Given the description of an element on the screen output the (x, y) to click on. 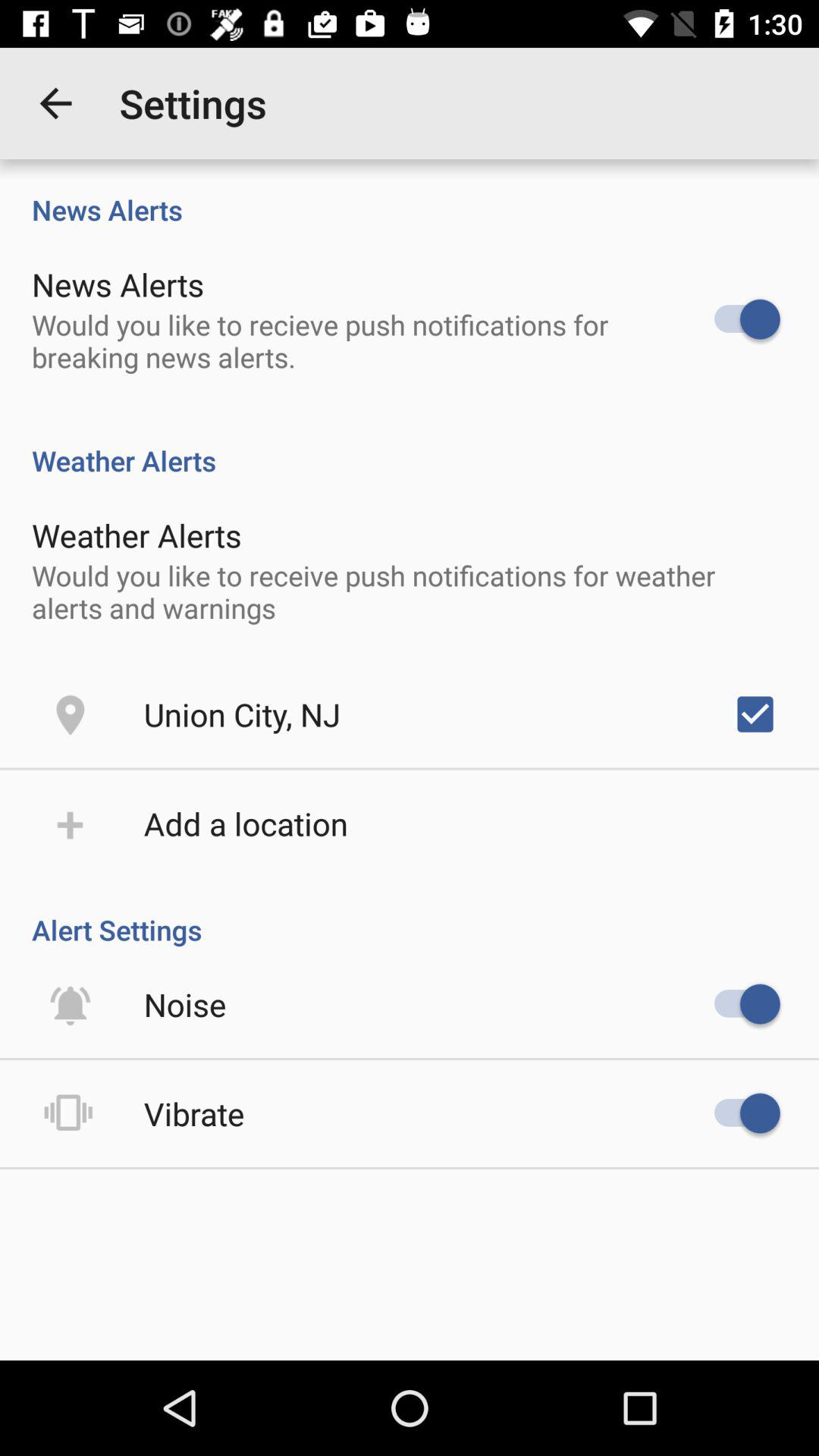
turn on the add a location item (245, 823)
